Given the description of an element on the screen output the (x, y) to click on. 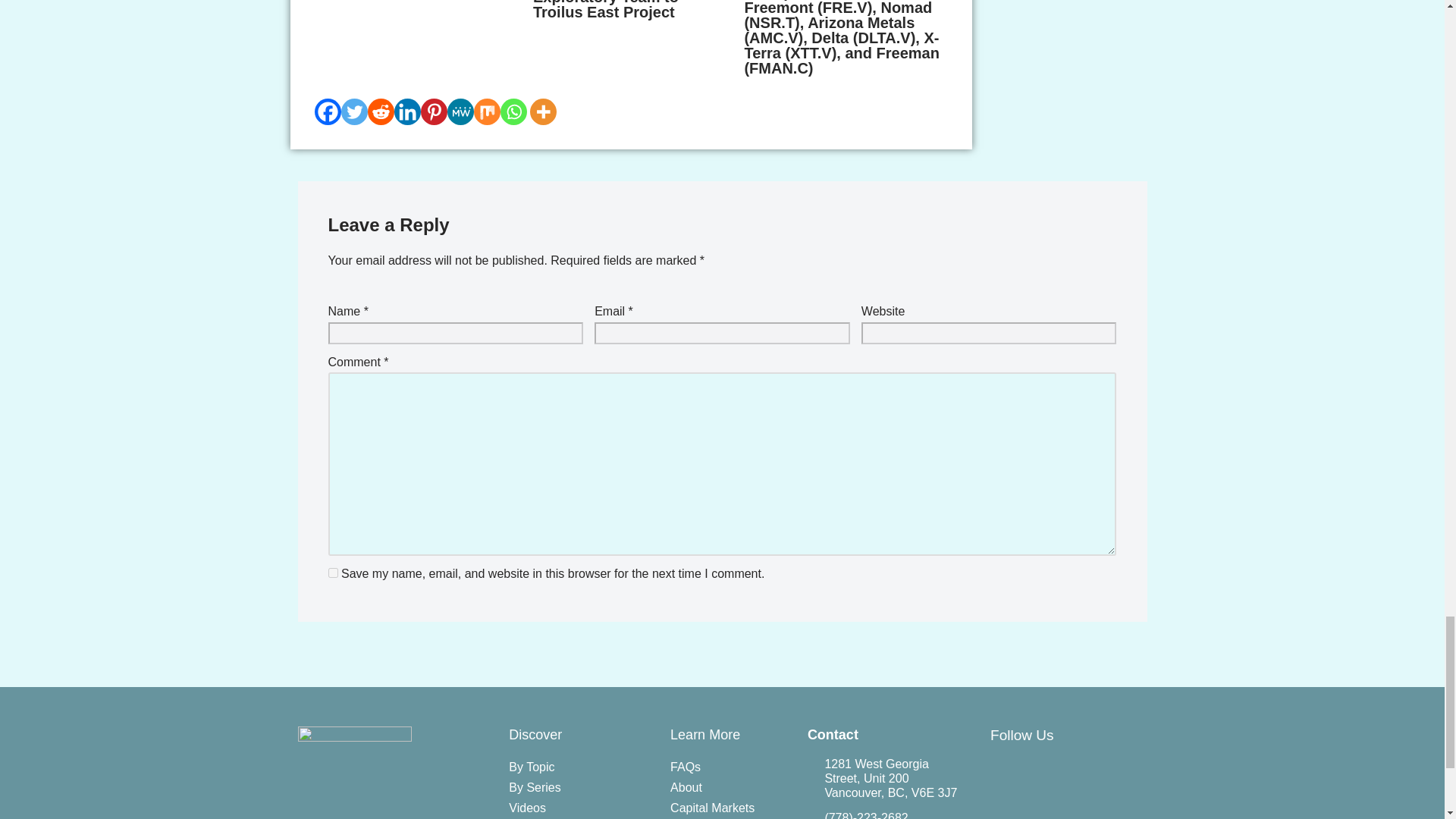
More (542, 111)
MeWe (460, 111)
Mix (486, 111)
Reddit (379, 111)
Whatsapp (513, 111)
Facebook (327, 111)
Twitter (354, 111)
Linkedin (407, 111)
yes (332, 573)
Pinterest (433, 111)
